Given the description of an element on the screen output the (x, y) to click on. 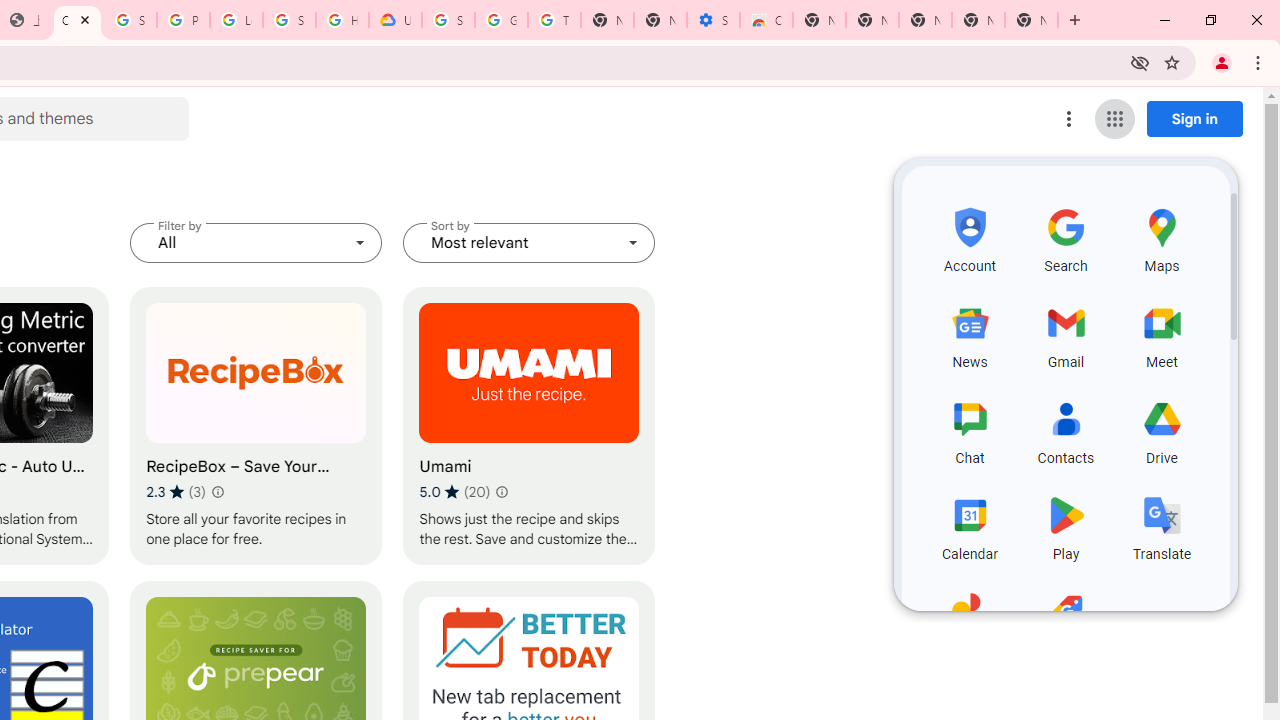
Sign in - Google Accounts (289, 20)
Chrome Web Store - Household (77, 20)
New Tab (819, 20)
More options menu (1069, 118)
Learn more about results and reviews "Umami" (502, 491)
Sign in - Google Accounts (448, 20)
